Given the description of an element on the screen output the (x, y) to click on. 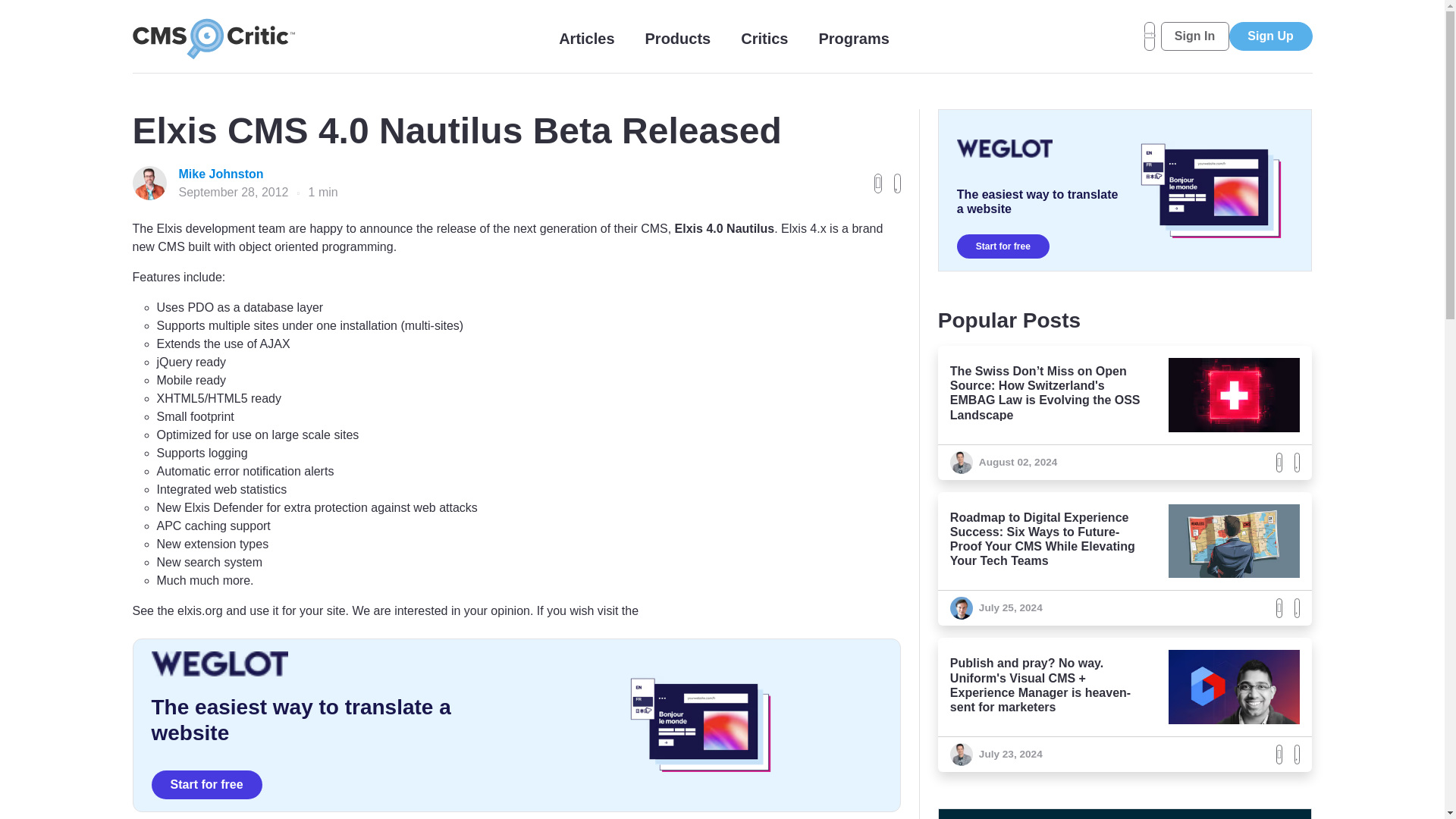
Products (678, 38)
elxis.org (199, 610)
Programs (853, 38)
Start for free (1002, 246)
Mike Johnston (258, 174)
Sign In (1194, 36)
Start for free (206, 784)
Articles (586, 38)
Sign Up (1269, 36)
